Given the description of an element on the screen output the (x, y) to click on. 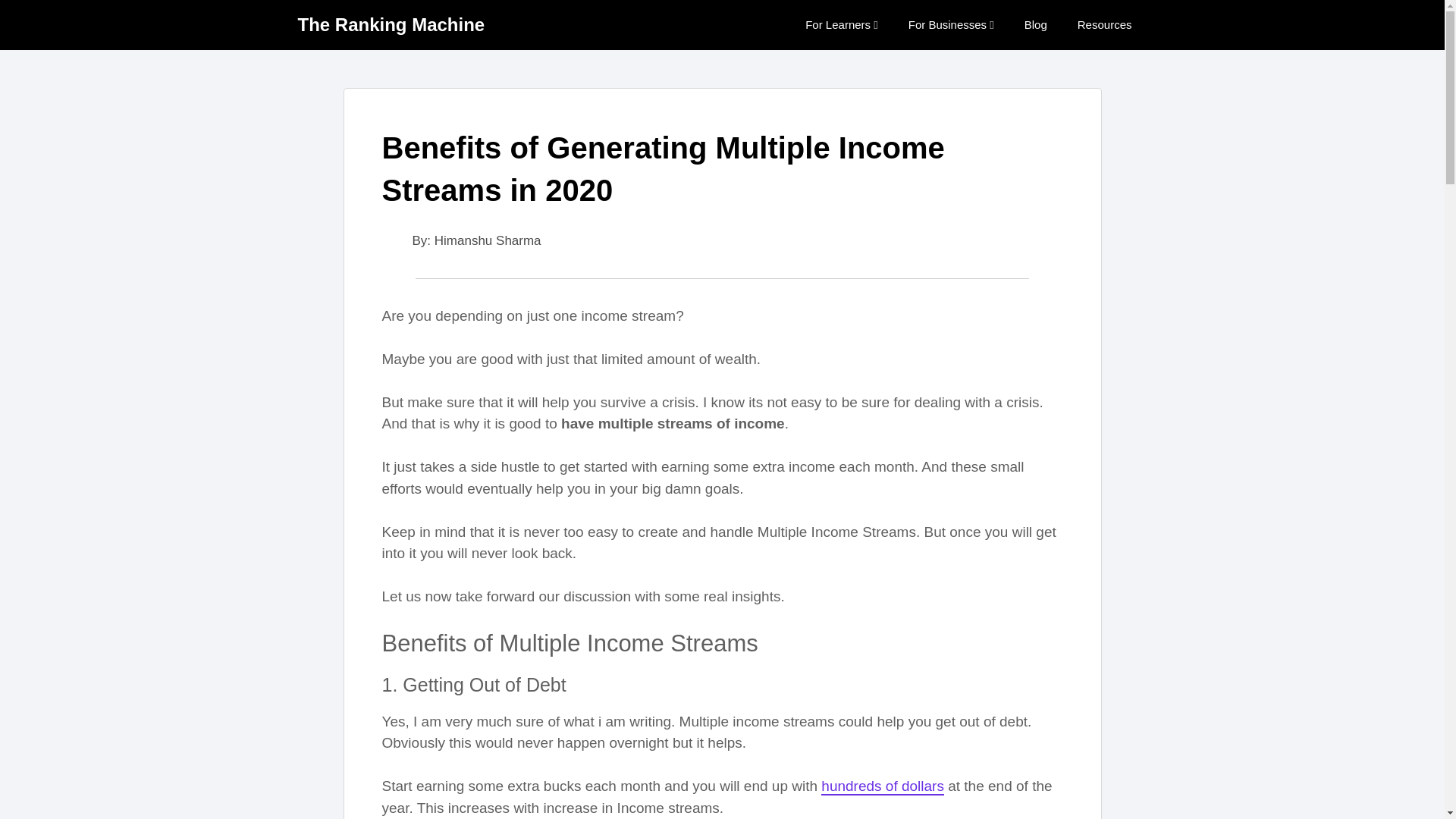
Resources (1104, 24)
By: Himanshu Sharma (461, 240)
The Ranking Machine (390, 24)
hundreds of dollars (882, 786)
Blog (1035, 24)
